Given the description of an element on the screen output the (x, y) to click on. 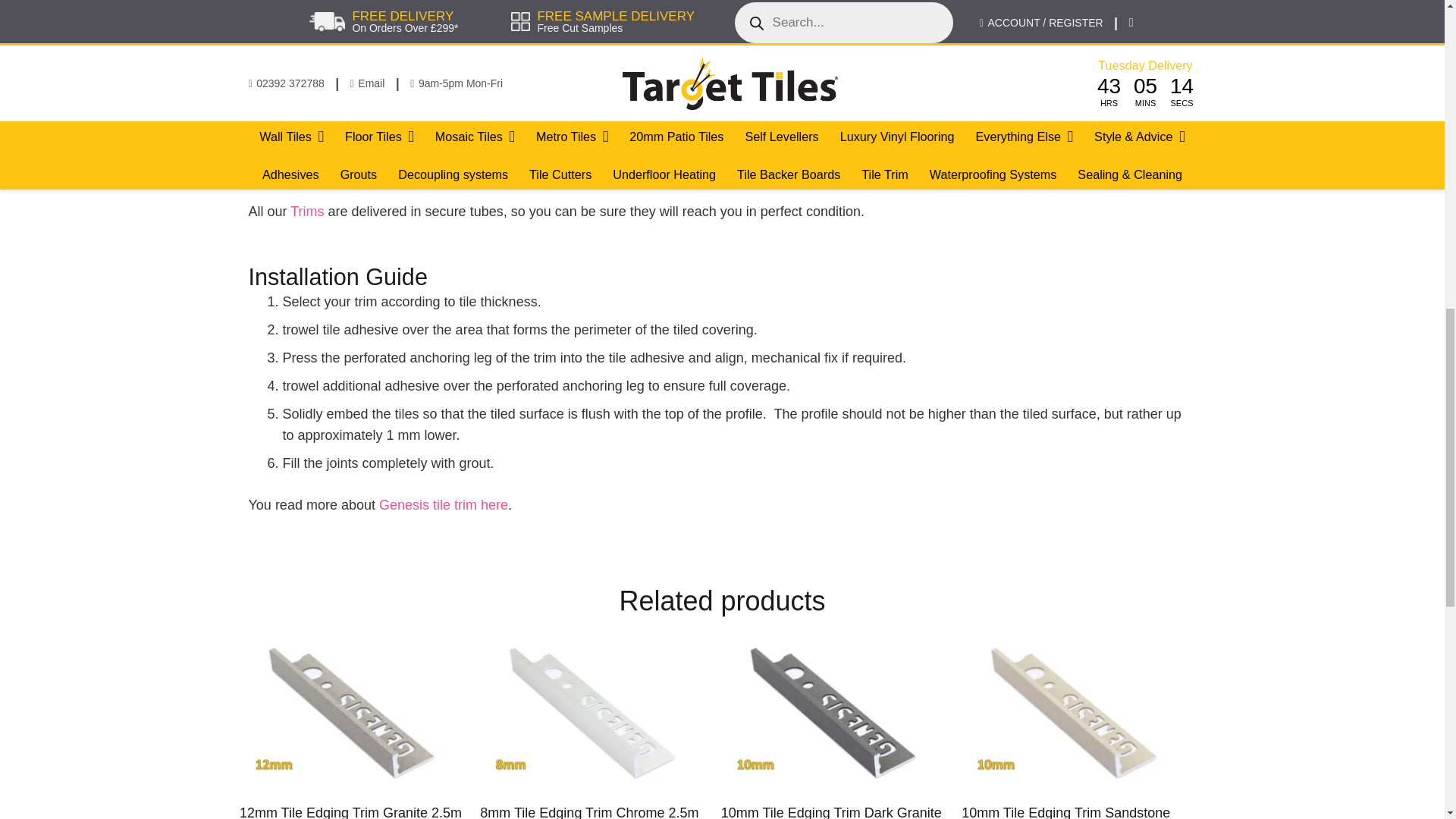
Back to top (30, 26)
